Given the description of an element on the screen output the (x, y) to click on. 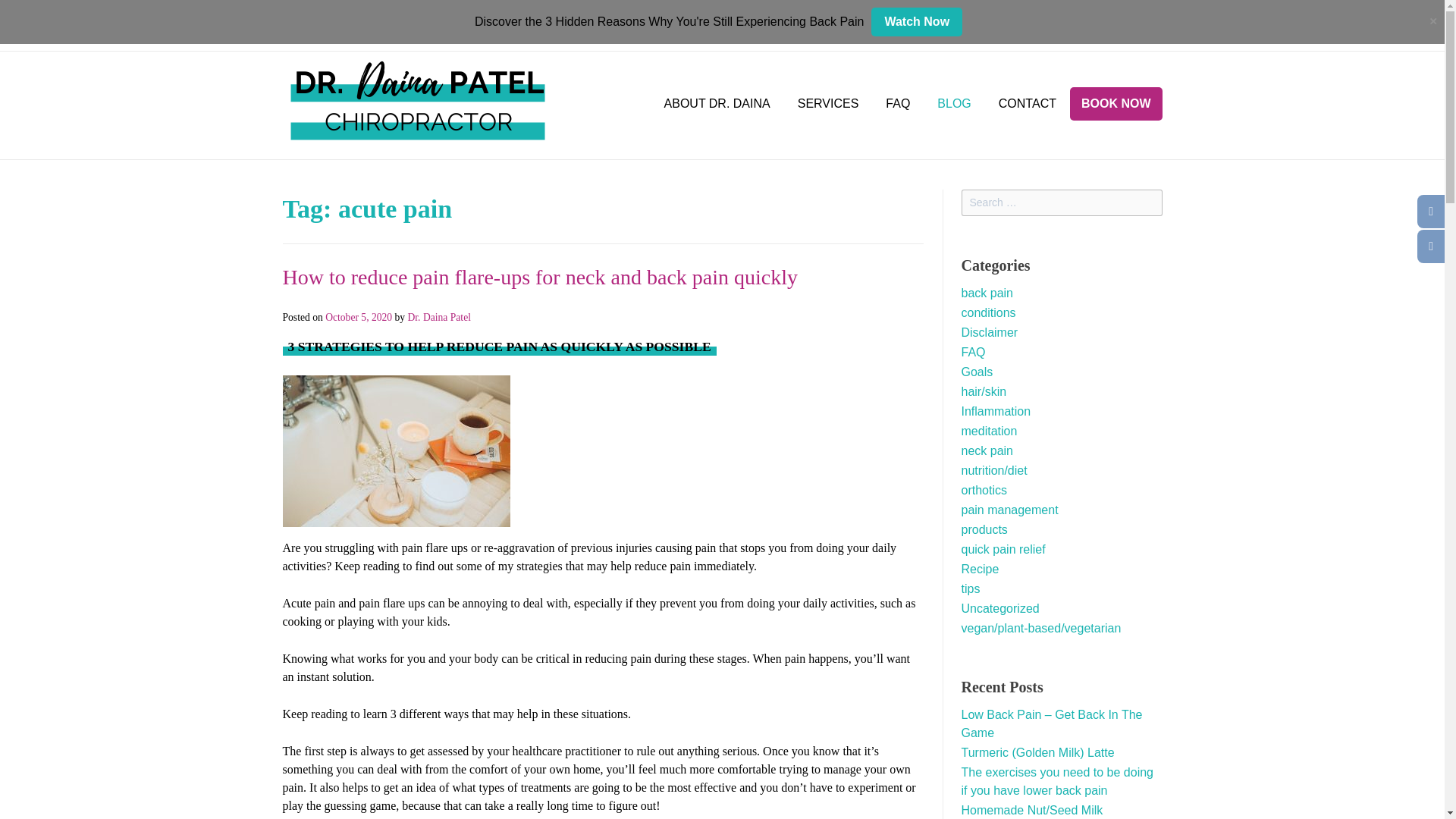
Search (27, 13)
ABOUT DR. DAINA (717, 103)
How to reduce pain flare-ups for neck and back pain quickly (539, 277)
back pain (986, 292)
October 5, 2020 (357, 316)
BOOK NOW (1075, 34)
Dr. Daina Patel (438, 316)
BOOK NOW (1115, 103)
CONTACT (1027, 103)
conditions (988, 312)
